Given the description of an element on the screen output the (x, y) to click on. 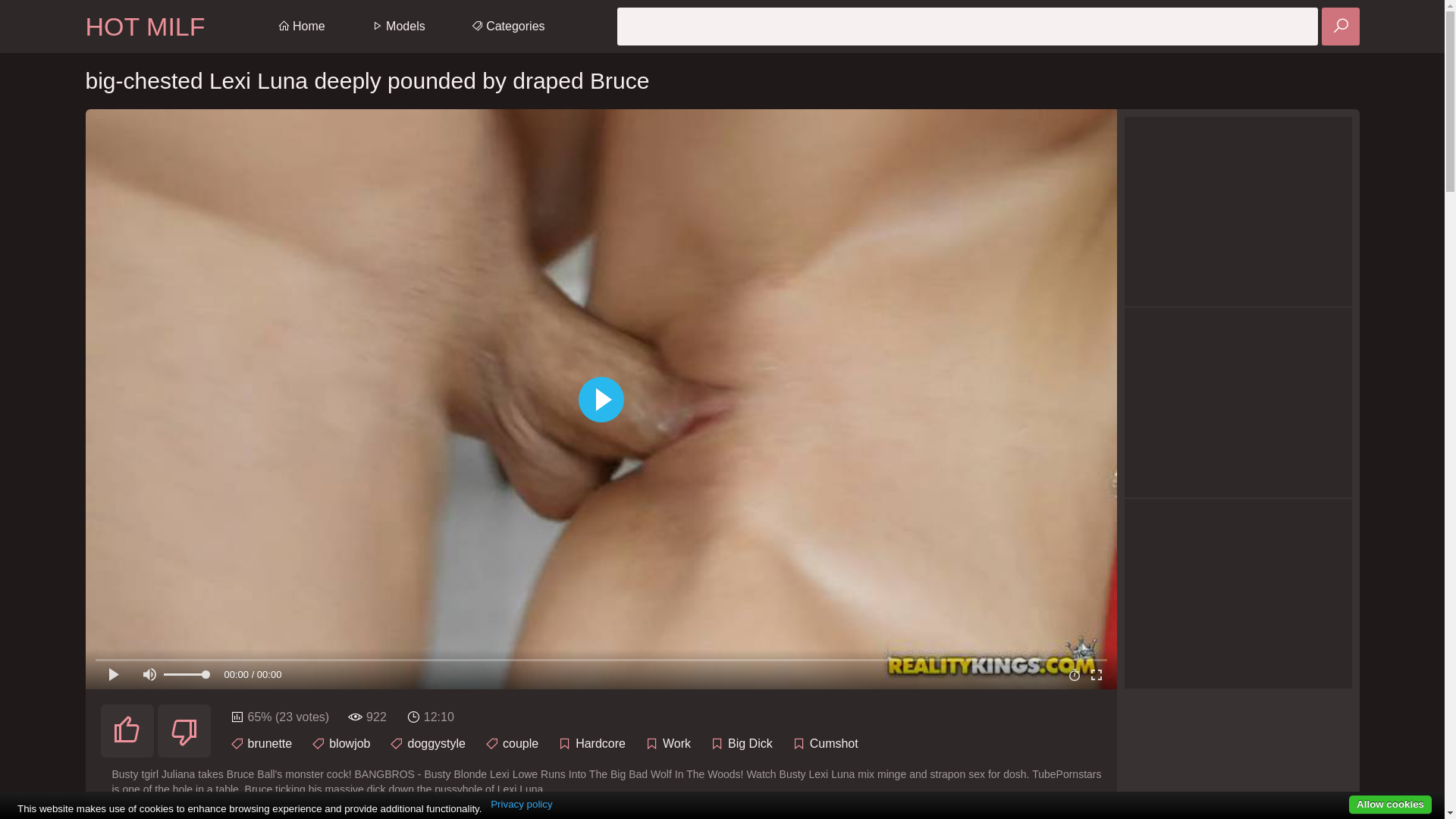
Privacy policy Element type: text (521, 804)
brunette Element type: text (269, 743)
Categories Element type: text (507, 26)
Work Element type: text (676, 743)
Search Element type: hover (1339, 26)
Cumshot Element type: text (833, 743)
HOT MILF Element type: text (144, 26)
couple Element type: text (520, 743)
Like! Element type: hover (126, 730)
Big Dick Element type: text (750, 743)
Home Element type: text (301, 26)
blowjob Element type: text (349, 743)
doggystyle Element type: text (436, 743)
Models Element type: text (397, 26)
Allow cookies Element type: text (1390, 804)
Dislike! Element type: hover (183, 730)
Hardcore Element type: text (600, 743)
